Given the description of an element on the screen output the (x, y) to click on. 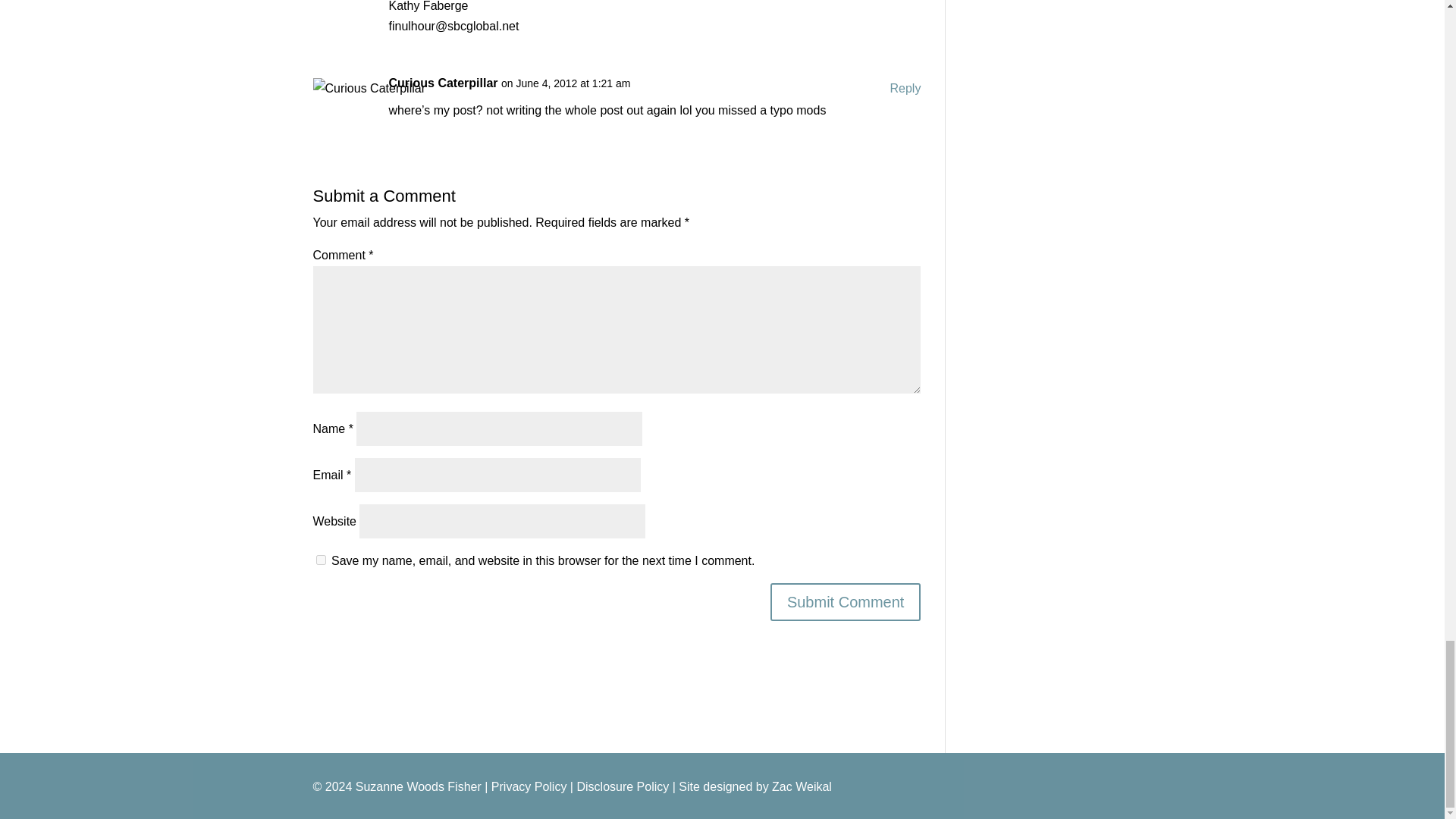
Submit Comment (845, 601)
Curious Caterpillar (442, 82)
Submit Comment (845, 601)
yes (319, 560)
Reply (905, 87)
